Given the description of an element on the screen output the (x, y) to click on. 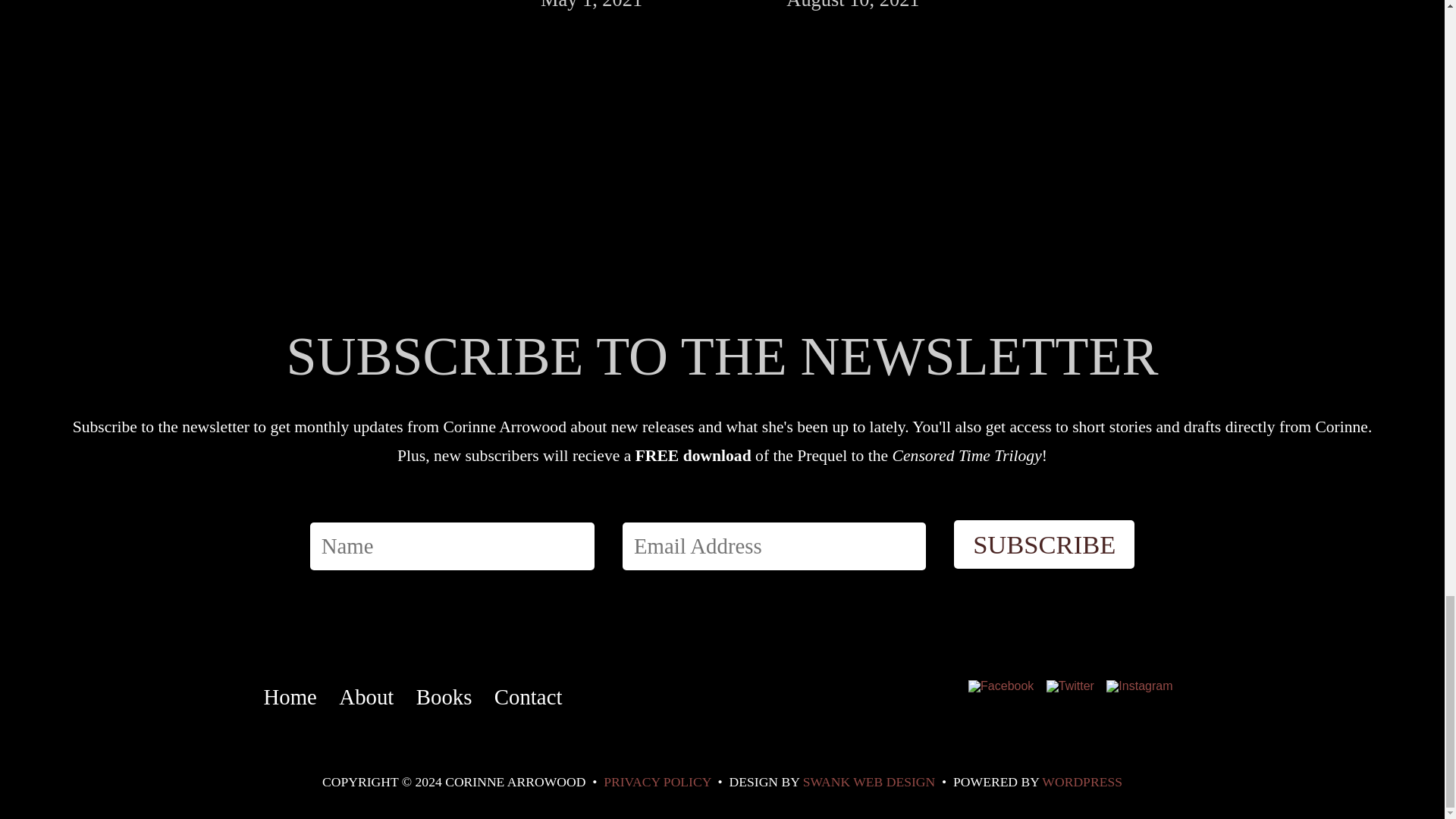
SWANK WEB DESIGN (869, 781)
Follow on Twitter (1069, 686)
About (356, 710)
Contact (519, 710)
Books (434, 710)
Home (279, 710)
Follow on Facebook (999, 686)
WORDPRESS (1082, 781)
Follow on Instagram (1139, 686)
PRIVACY POLICY (657, 781)
